Given the description of an element on the screen output the (x, y) to click on. 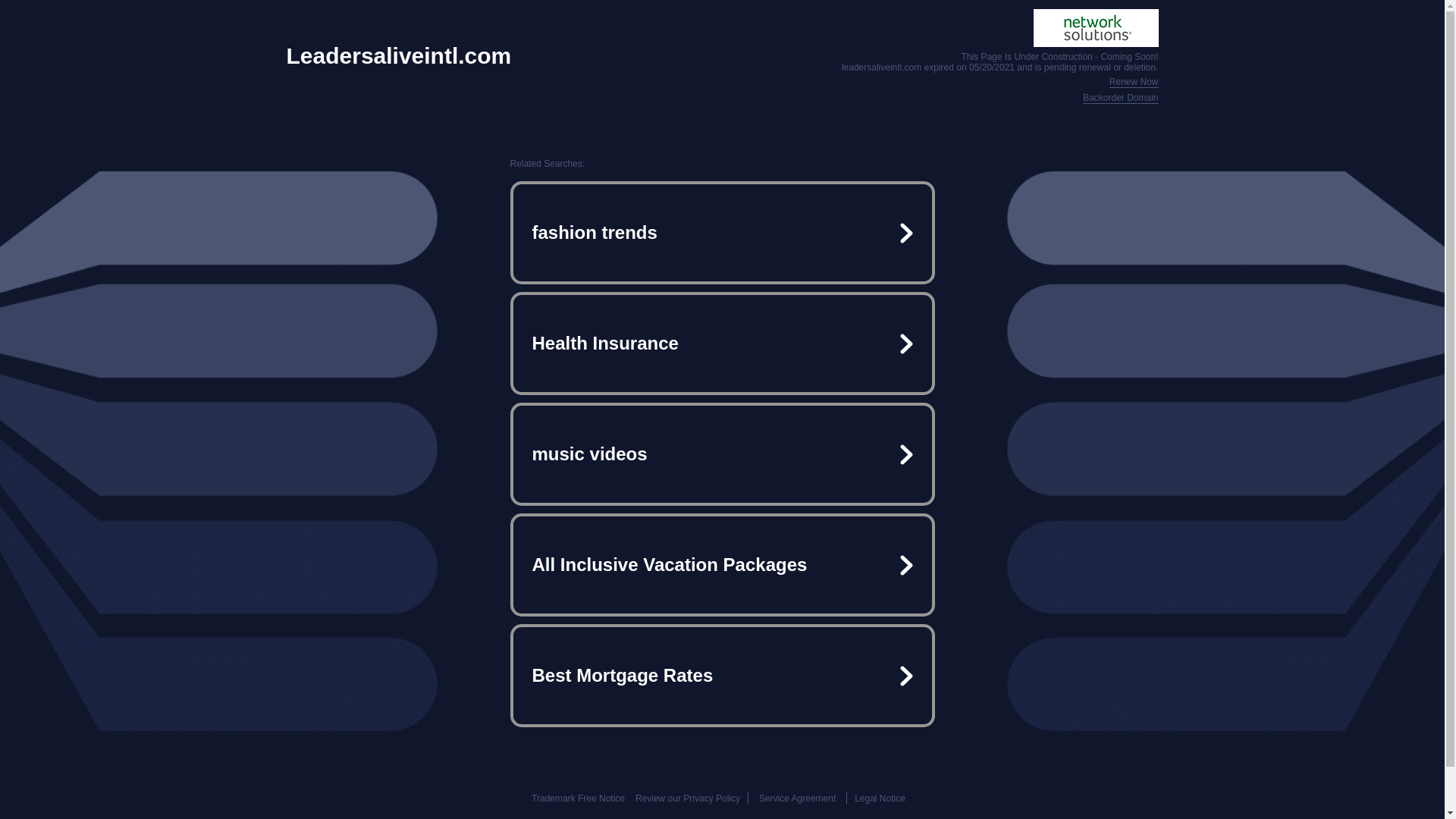
All Inclusive Vacation Packages (721, 564)
Legal Notice (879, 798)
Best Mortgage Rates (721, 675)
music videos (721, 453)
Health Insurance (721, 343)
Backorder Domain (1120, 98)
music videos (721, 453)
fashion trends (721, 232)
Trademark Free Notice (577, 798)
All Inclusive Vacation Packages (721, 564)
Best Mortgage Rates (721, 675)
Renew Now (1133, 81)
fashion trends (721, 232)
Leadersaliveintl.com (399, 55)
Health Insurance (721, 343)
